Given the description of an element on the screen output the (x, y) to click on. 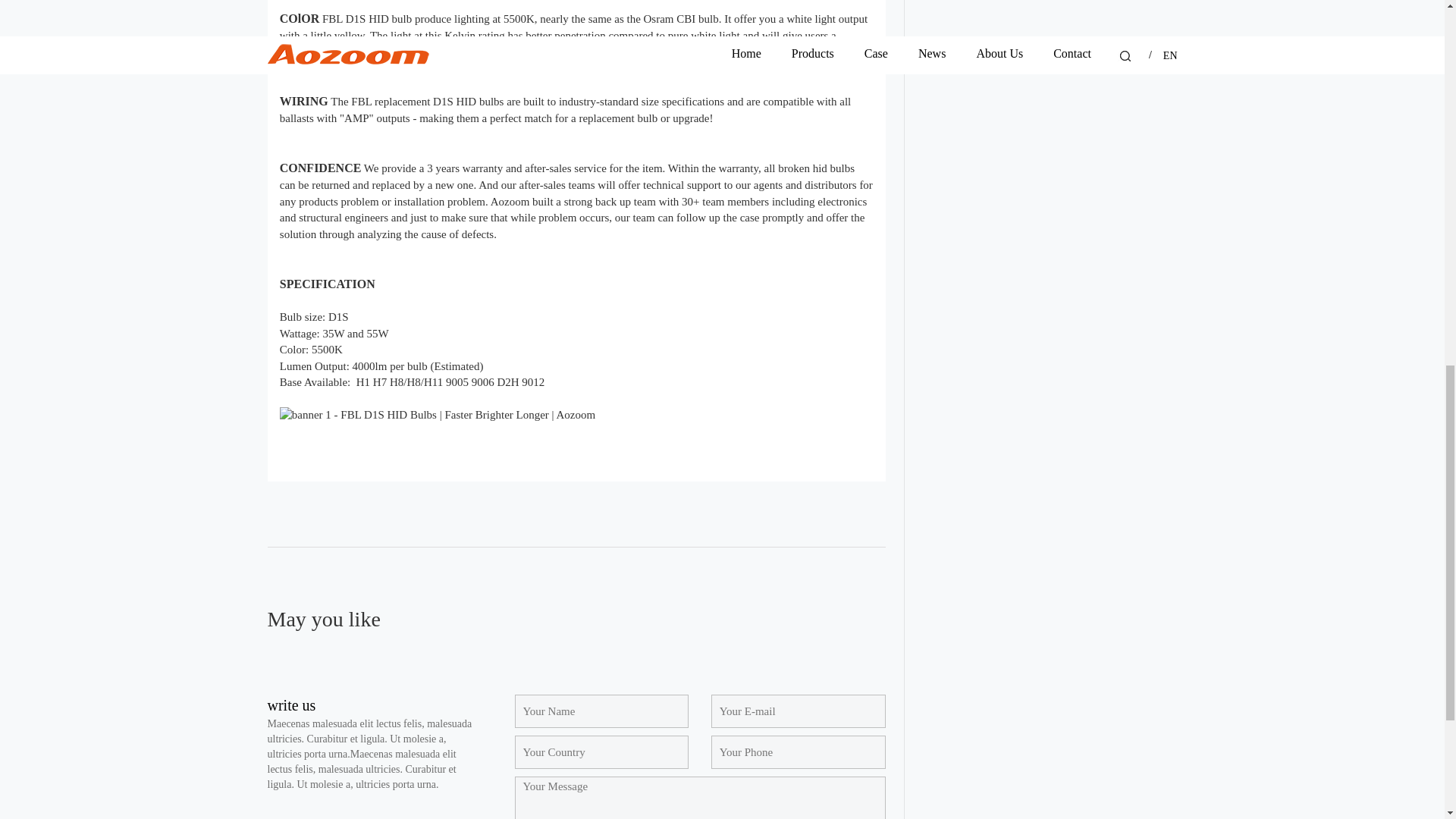
write us (290, 705)
